Given the description of an element on the screen output the (x, y) to click on. 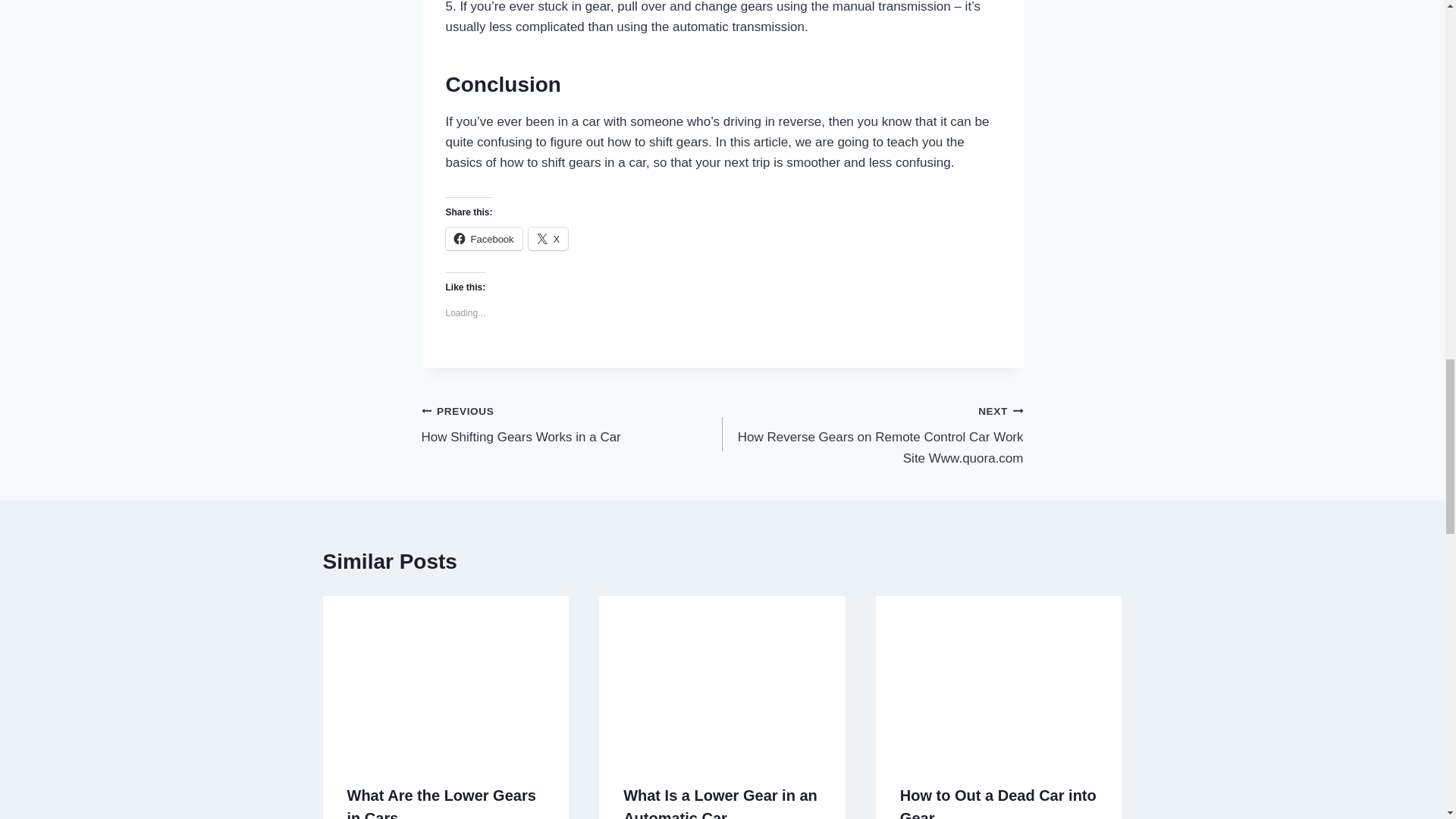
What Are the Lower Gears in Cars (441, 803)
Click to share on X (548, 238)
X (572, 423)
What Is a Lower Gear in an Automatic Car (548, 238)
Facebook (719, 803)
Click to share on Facebook (483, 238)
